Given the description of an element on the screen output the (x, y) to click on. 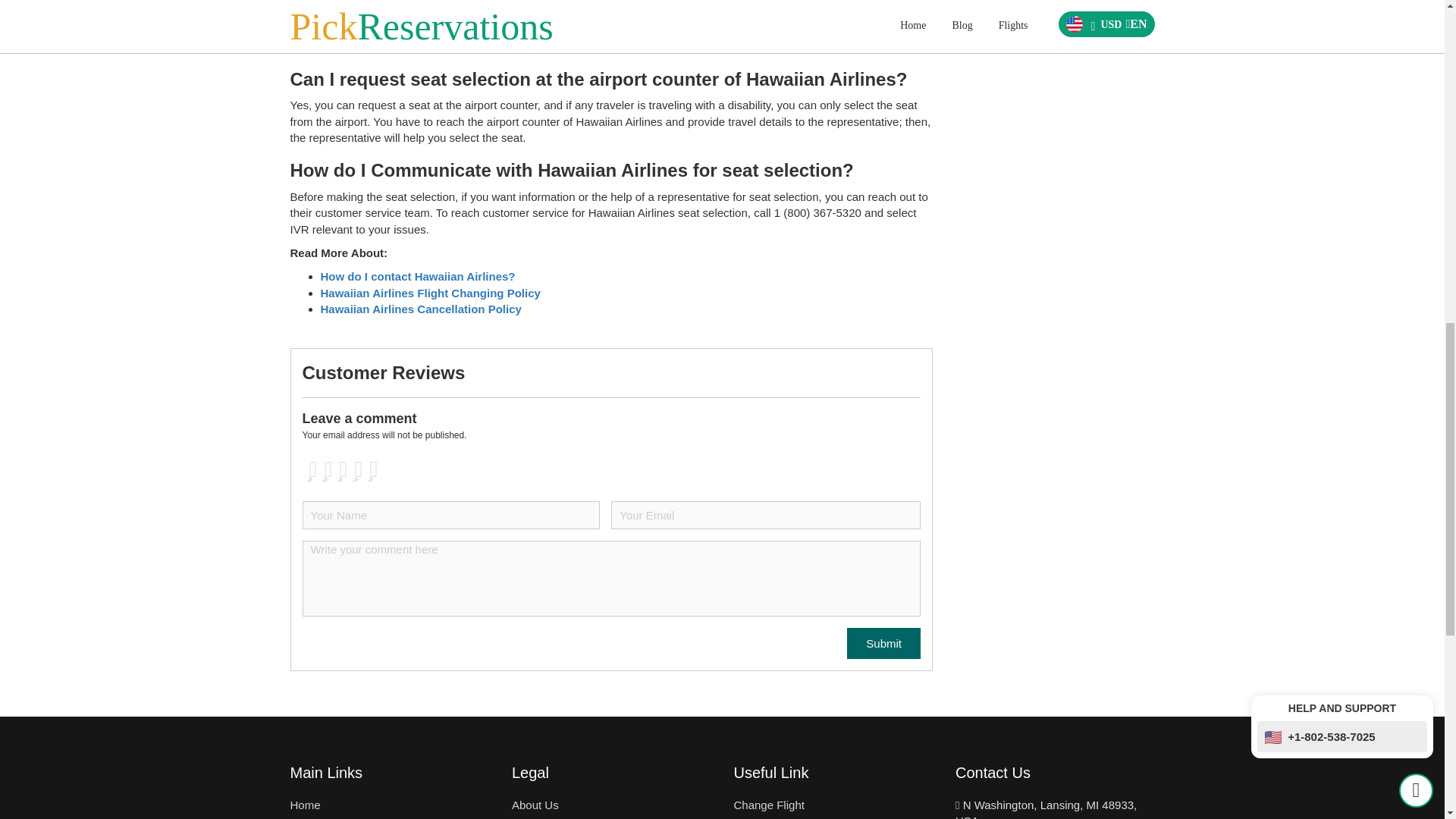
Home (304, 804)
How do I contact Hawaiian Airlines? (417, 276)
Change Flight (769, 804)
Hawaiian Airlines Cancellation Policy (420, 308)
Submit (883, 643)
Hawaiian Airlines Flight Changing Policy (430, 292)
About Us (535, 804)
